Given the description of an element on the screen output the (x, y) to click on. 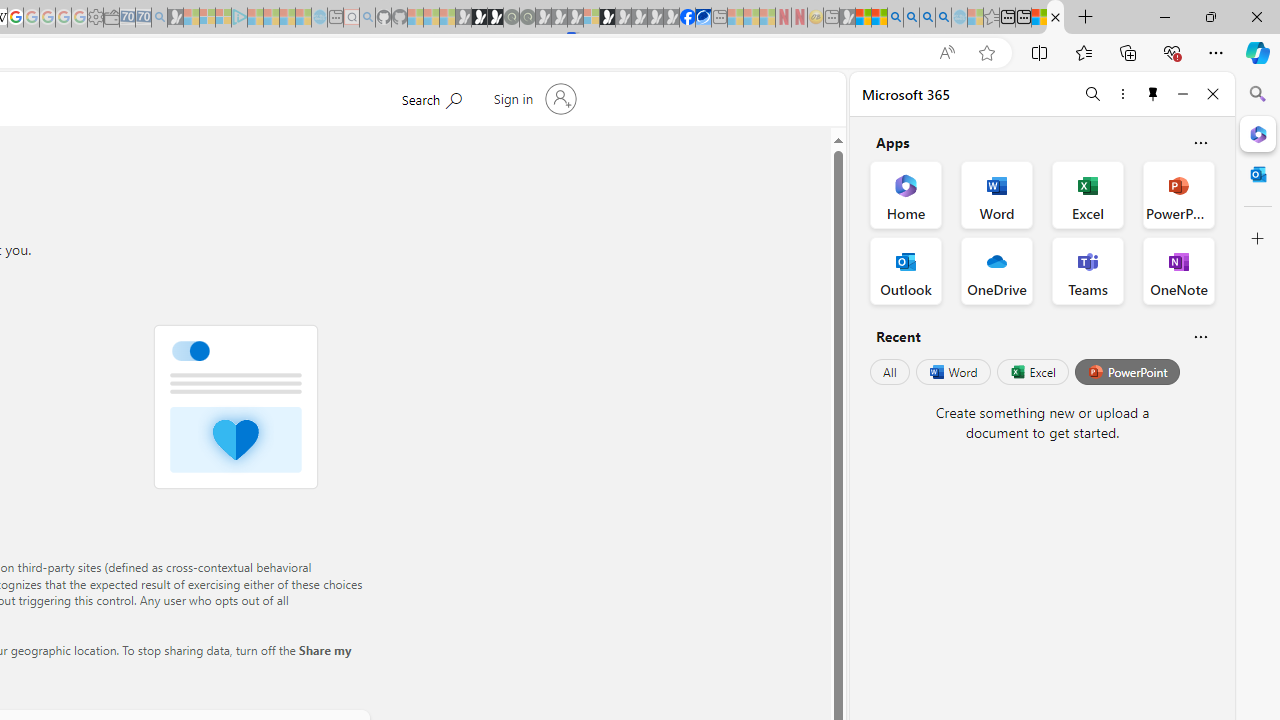
Google Chrome Internet Browser Download - Search Images (943, 17)
Bing AI - Search (895, 17)
Close Microsoft 365 pane (1258, 133)
Excel Office App (1087, 194)
